Given the description of an element on the screen output the (x, y) to click on. 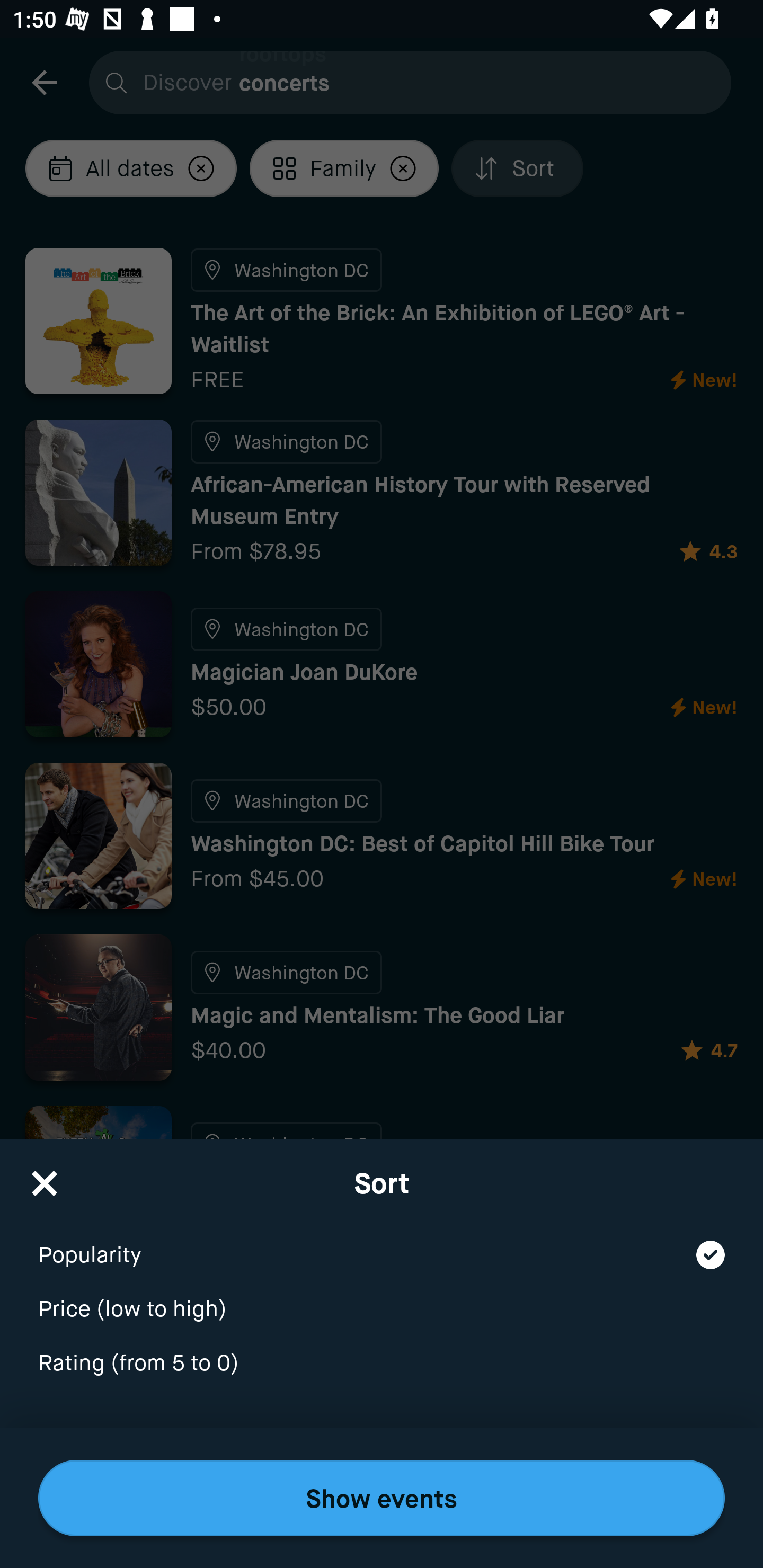
CloseButton (44, 1177)
Popularity Selected Icon (381, 1243)
Price (low to high) (381, 1297)
Rating (from 5 to 0) (381, 1362)
Show events (381, 1497)
